Given the description of an element on the screen output the (x, y) to click on. 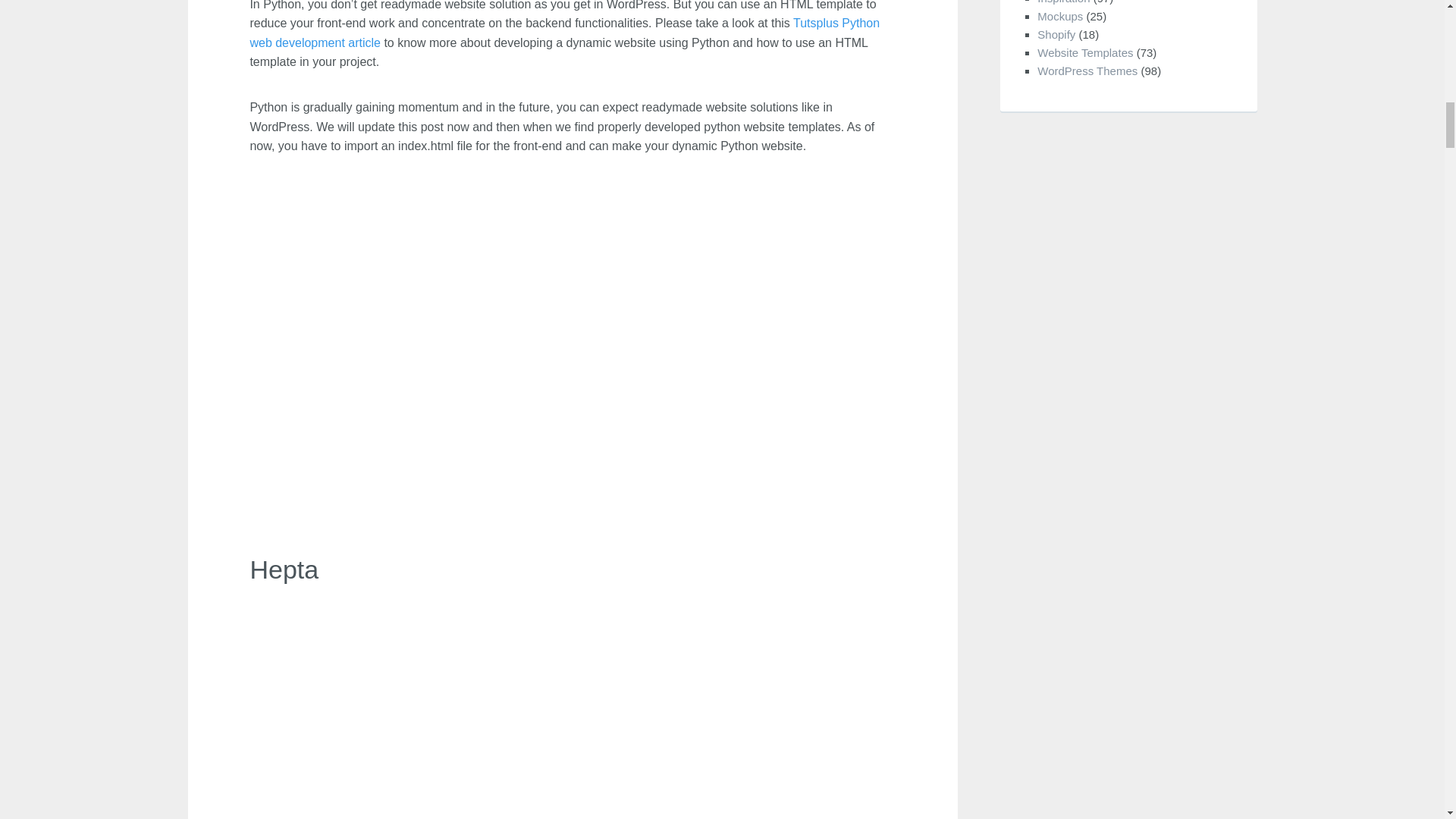
Tutsplus Python web development article (563, 33)
